Given the description of an element on the screen output the (x, y) to click on. 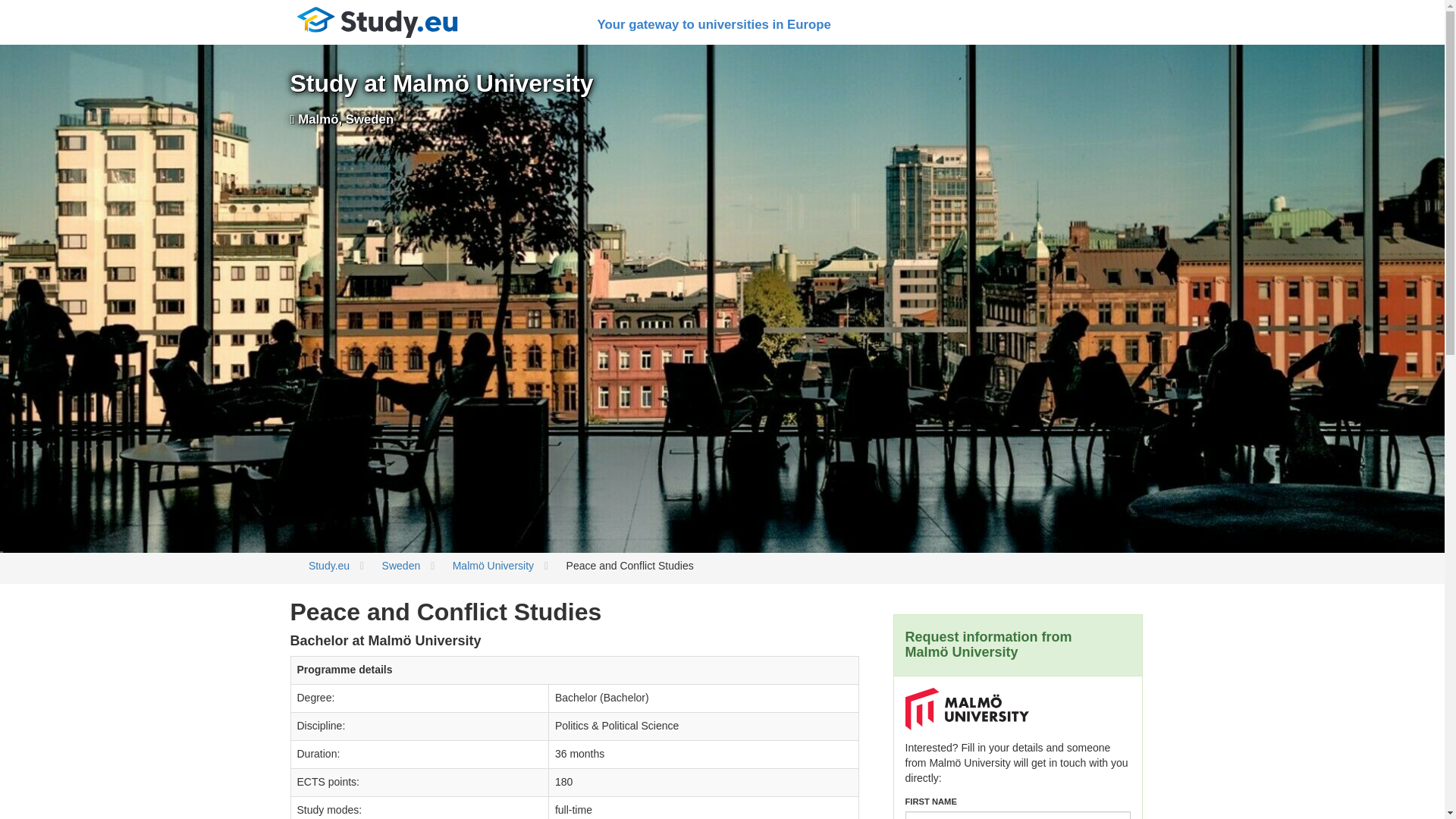
Sweden (400, 565)
Study.eu (328, 565)
Study.eu (376, 22)
